Given the description of an element on the screen output the (x, y) to click on. 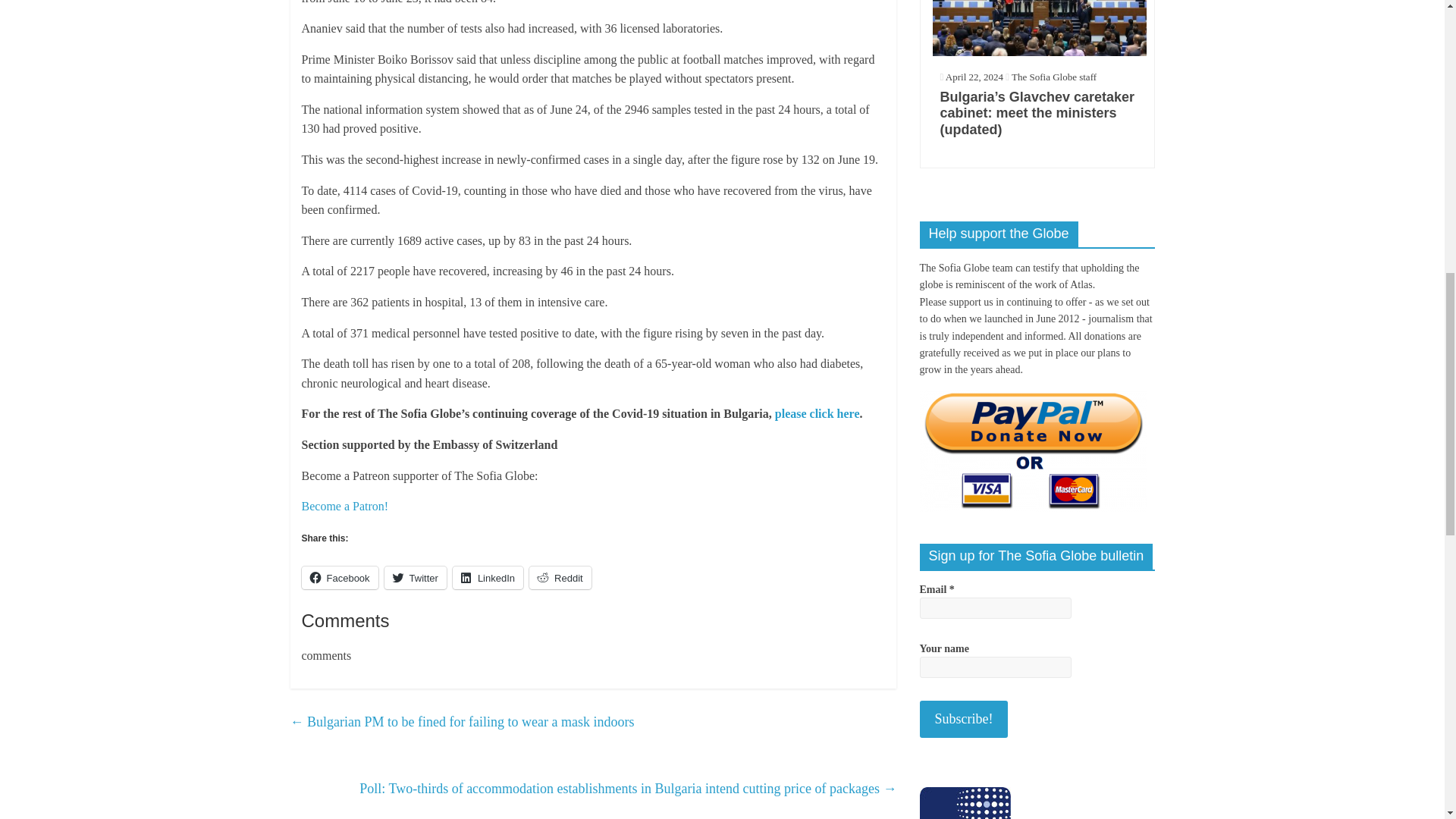
Click to share on Reddit (560, 577)
Become a Patron! (344, 505)
LinkedIn (487, 577)
please click here (817, 413)
Click to share on Facebook (339, 577)
Twitter (415, 577)
Subscribe! (962, 719)
Facebook (339, 577)
Reddit (560, 577)
Click to share on Twitter (415, 577)
